Given the description of an element on the screen output the (x, y) to click on. 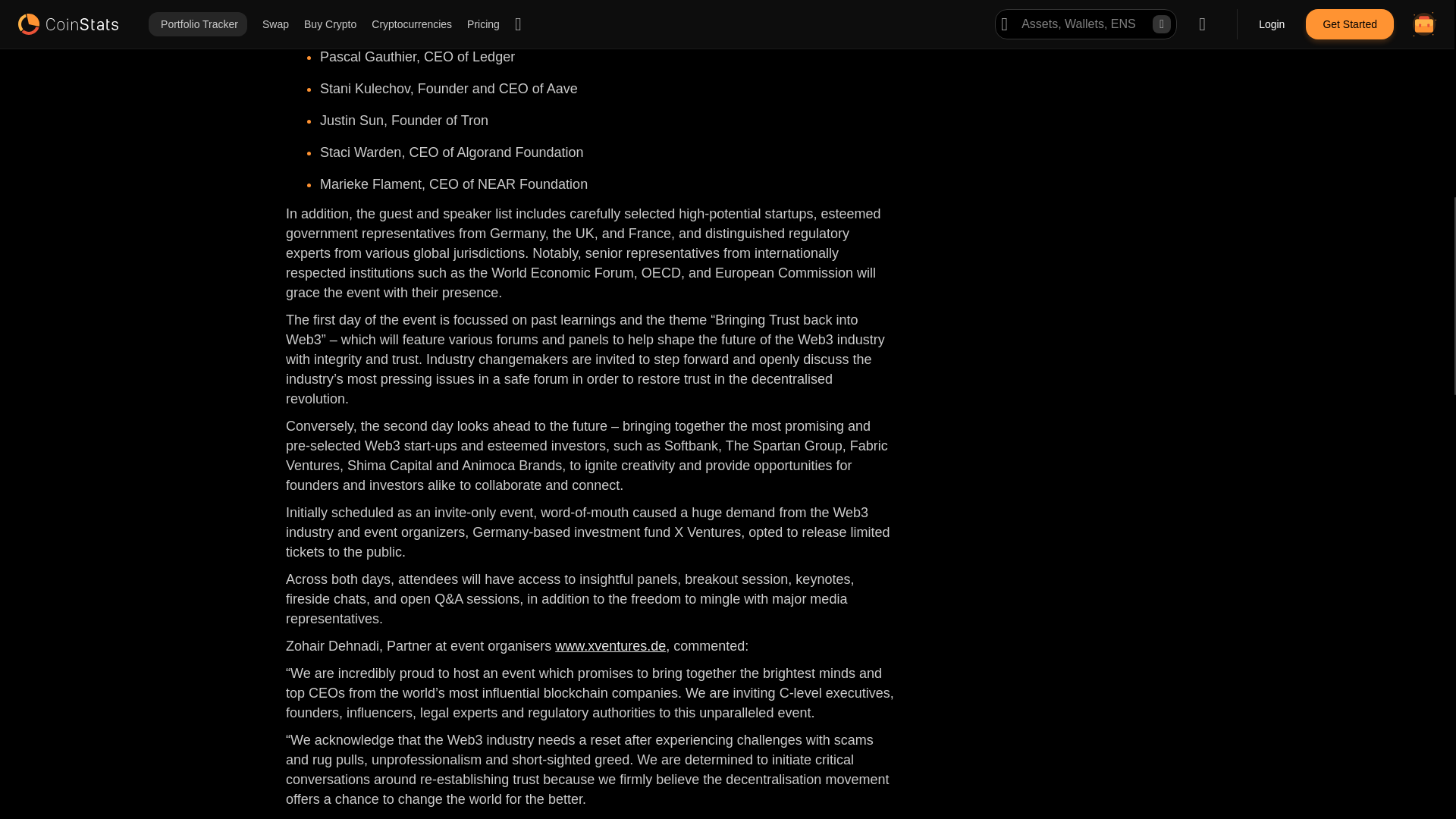
www.xventures.de (609, 645)
